Given the description of an element on the screen output the (x, y) to click on. 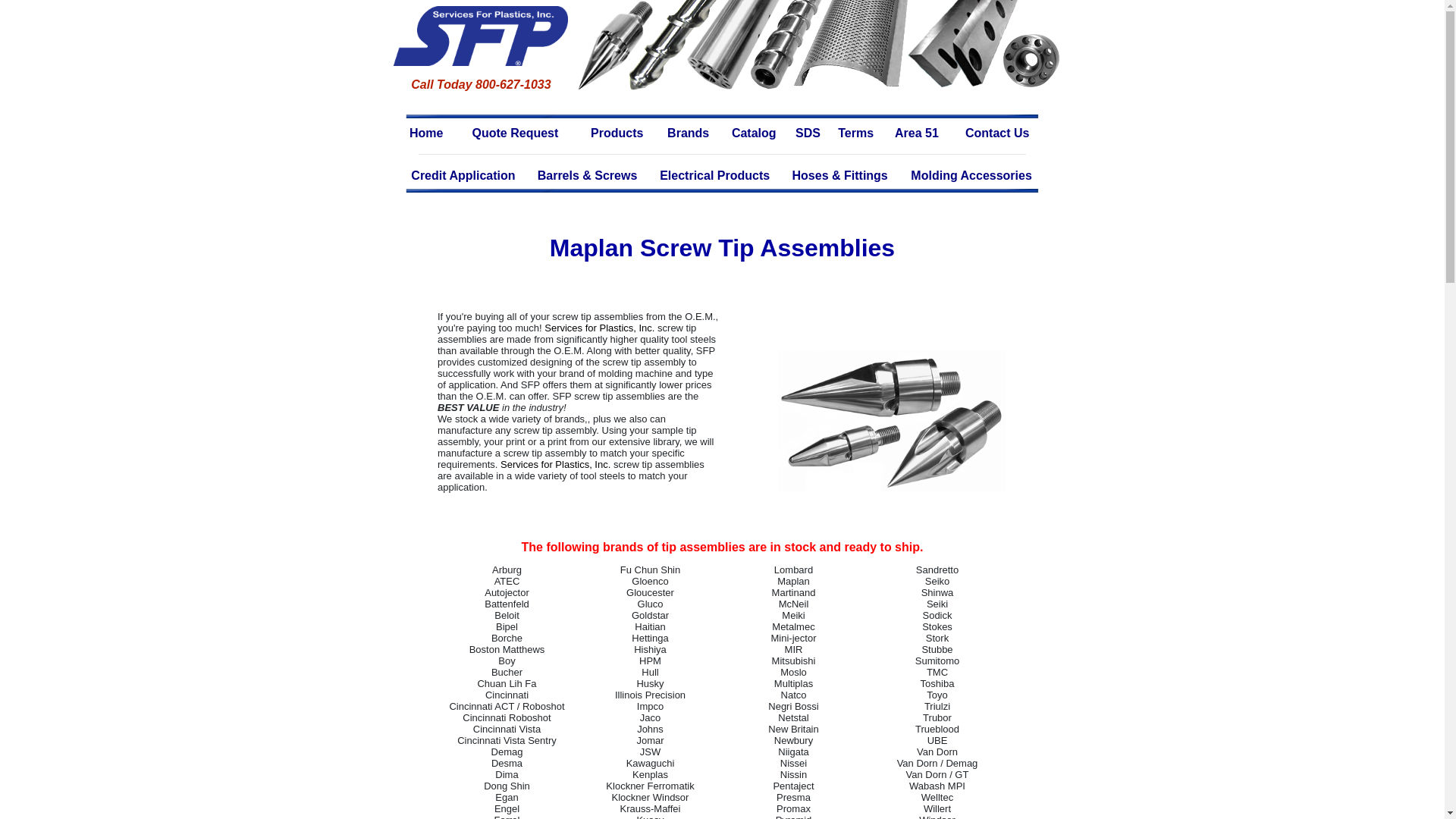
Quote Request (514, 133)
Brands (688, 133)
Home (425, 133)
SDS (808, 133)
Contact Us (996, 133)
Terms (855, 133)
Electrical Products (714, 175)
Catalog (753, 133)
Area 51 (916, 133)
Credit Application (462, 175)
Products (617, 133)
Molding Accessories (971, 175)
